Given the description of an element on the screen output the (x, y) to click on. 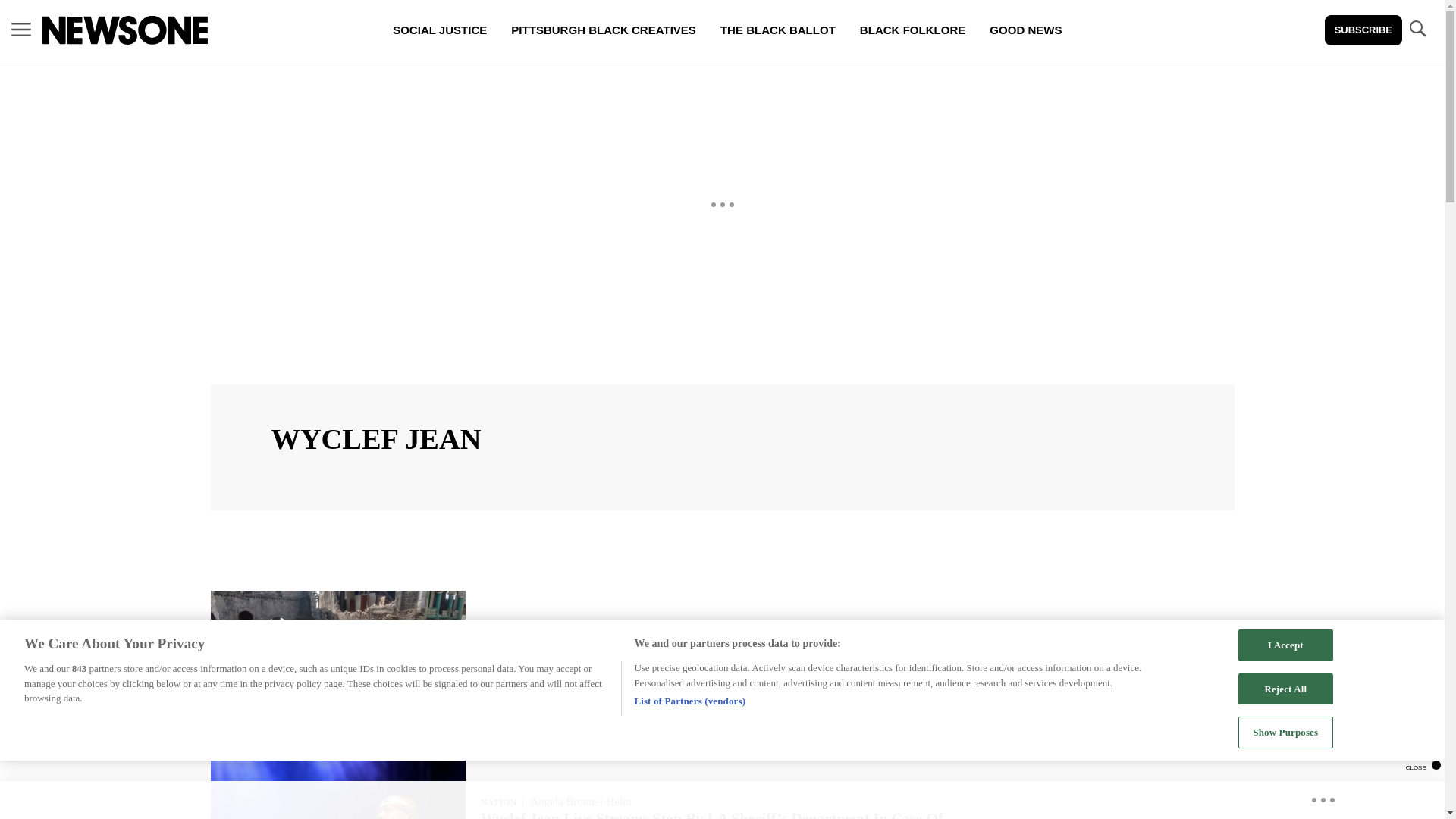
PITTSBURGH BLACK CREATIVES (603, 30)
SOCIAL JUSTICE (439, 30)
THE BLACK BALLOT (777, 30)
SUBSCRIBE (1363, 30)
MENU (20, 30)
How To Help Haiti (541, 658)
TOGGLE SEARCH (1417, 30)
MENU (20, 29)
WORLD (498, 641)
Angela Bronner Helm (580, 801)
BLACK FOLKLORE (911, 30)
TOGGLE SEARCH (1417, 28)
NATION (498, 801)
GOOD NEWS (1025, 30)
